Given the description of an element on the screen output the (x, y) to click on. 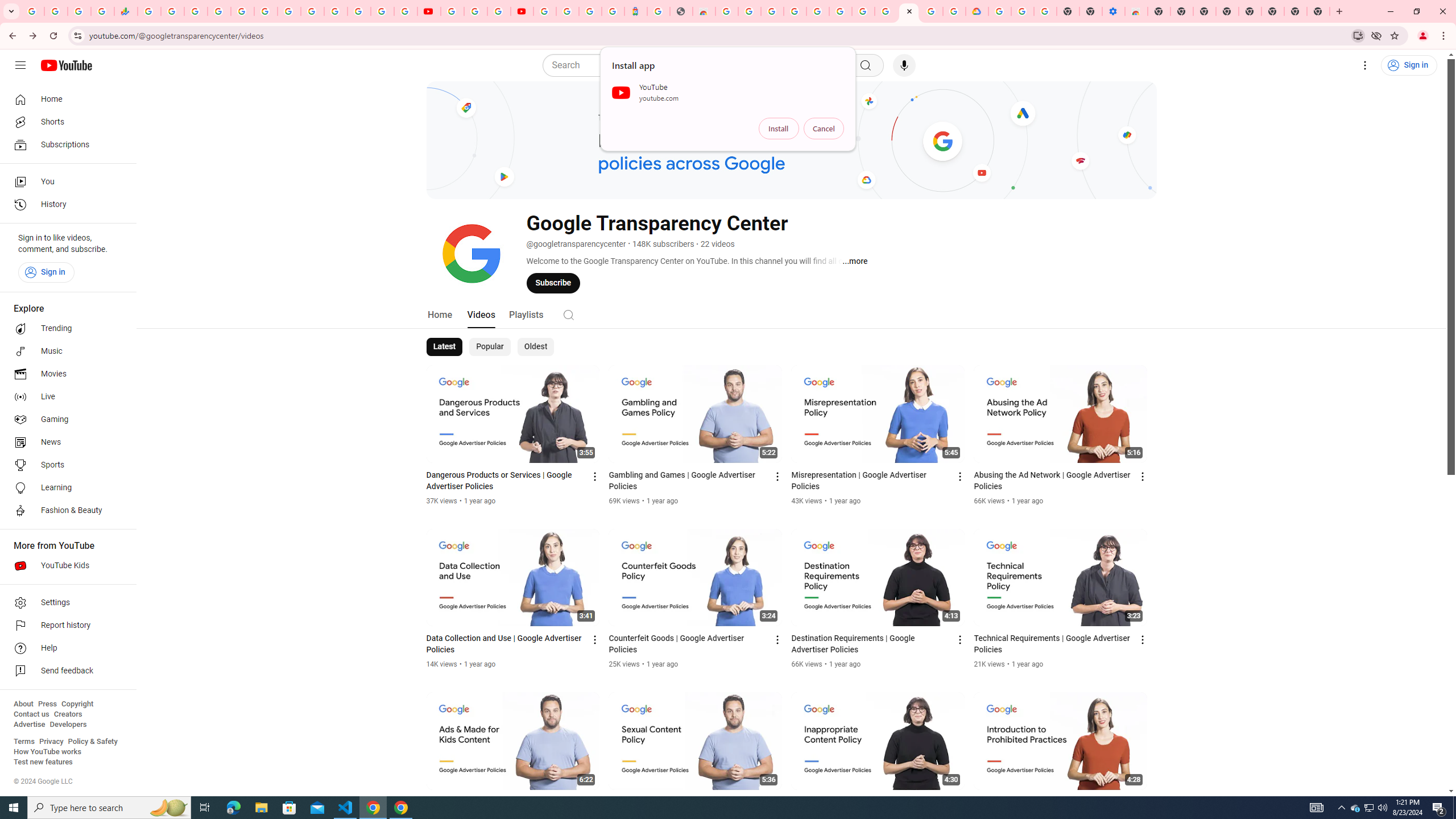
Advertise (29, 724)
Help (64, 648)
Install YouTube (1358, 35)
Creators (67, 714)
Movies (64, 373)
YouTube Home (66, 65)
Turn cookies on or off - Computer - Google Account Help (1045, 11)
